Given the description of an element on the screen output the (x, y) to click on. 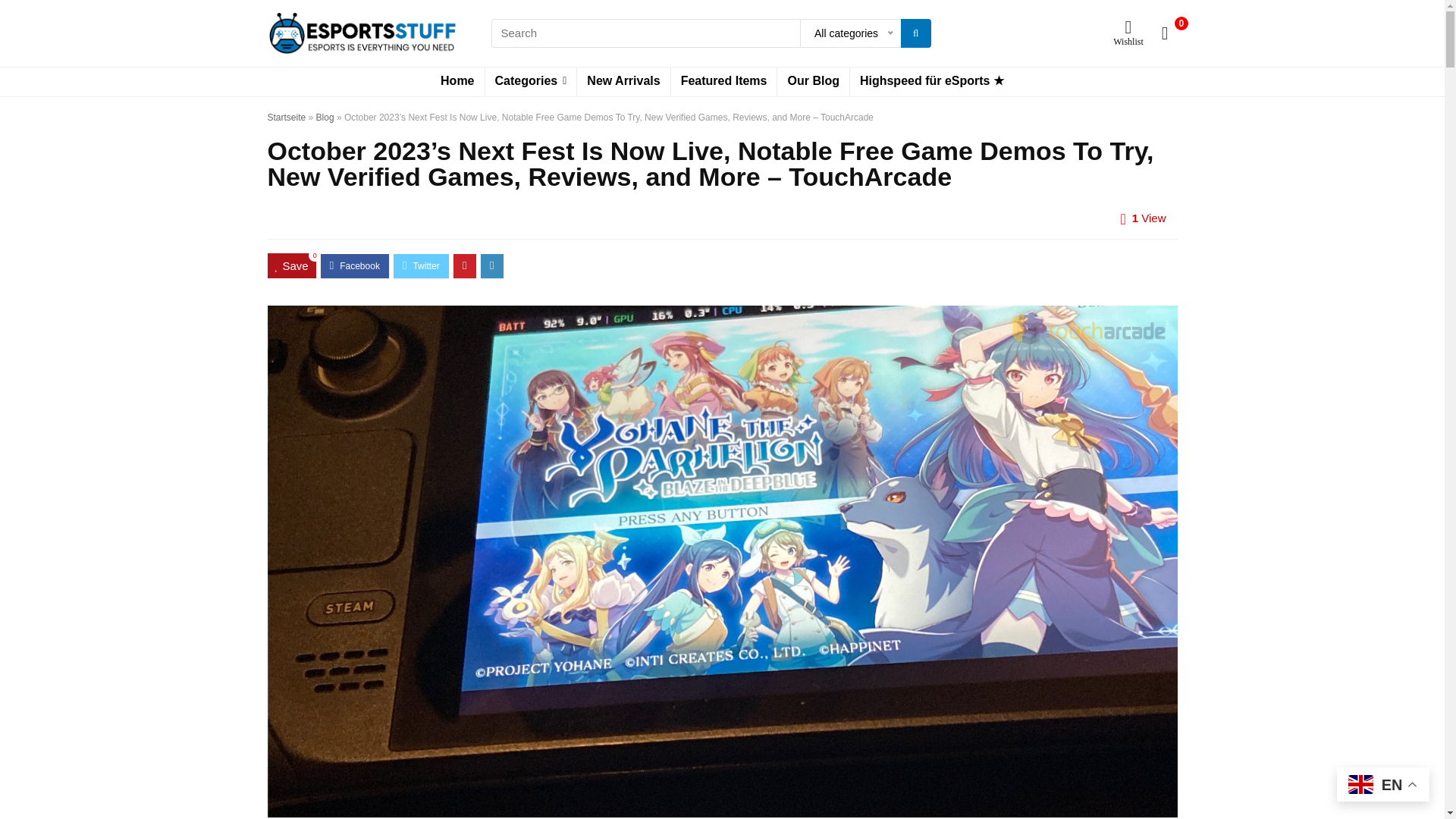
Home (456, 81)
Categories (530, 81)
Startseite (285, 117)
New Arrivals (622, 81)
Blog (324, 117)
Featured Items (724, 81)
Our Blog (812, 81)
